Given the description of an element on the screen output the (x, y) to click on. 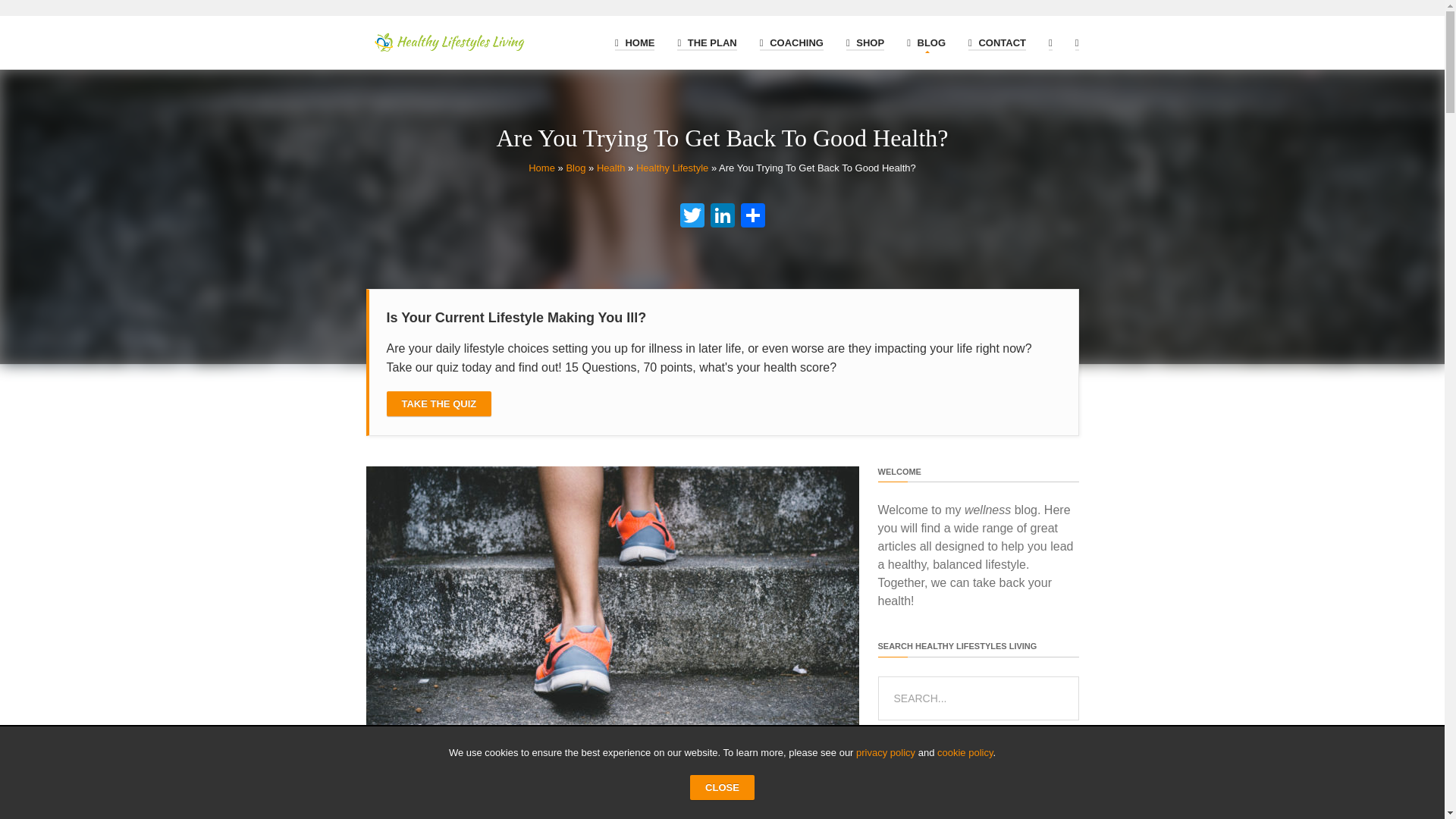
Privacy Policy (885, 752)
HOME (633, 40)
THE PLAN (706, 40)
SEARCH... (977, 698)
LinkedIn (721, 216)
cookie policy (964, 752)
COACHING (792, 40)
BLOG (925, 39)
privacy policy (885, 752)
CLOSE (722, 787)
